Given the description of an element on the screen output the (x, y) to click on. 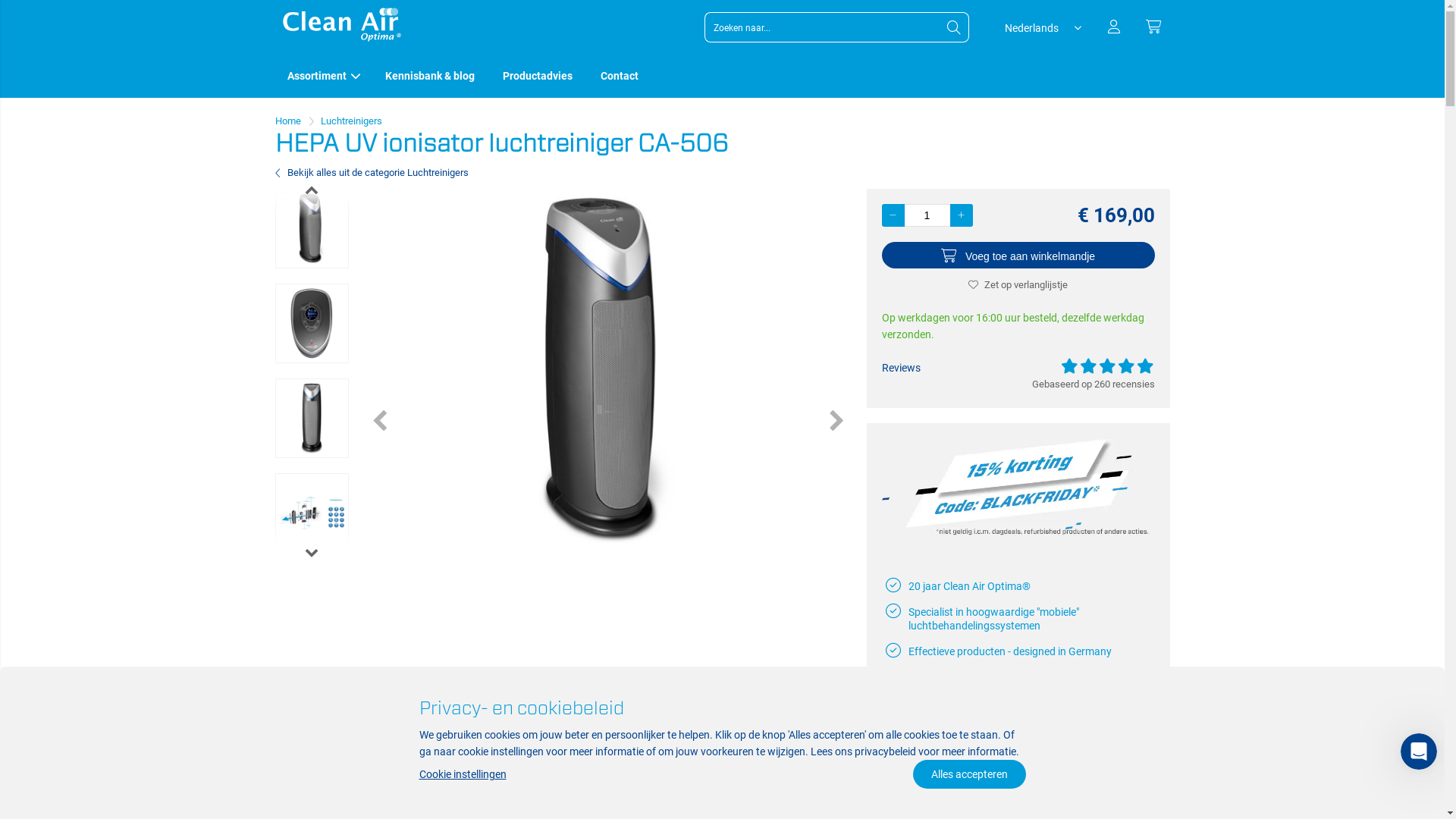
Home Element type: text (287, 120)
snel contact Element type: text (1047, 702)
Gebaseerd op 260 recensies Element type: text (1082, 384)
privacybeleid Element type: text (884, 751)
Productadvies Element type: text (539, 75)
Kennisbank & blog Element type: text (431, 75)
Voeg toe aan winkelmandje Element type: text (1017, 254)
Zet op verlanglijstje Element type: text (1017, 284)
Intercom live chat Element type: hover (1418, 751)
Clean Air BE Element type: hover (341, 37)
Luchtreinigers Element type: text (350, 120)
Online productadvies Element type: text (957, 728)
Alles accepteren Element type: text (969, 773)
Assortiment Element type: text (324, 75)
Bekijk alles uit de categorie Luchtreinigers Element type: text (370, 172)
Contact Element type: text (620, 75)
Cookie instellingen Element type: text (461, 773)
